Given the description of an element on the screen output the (x, y) to click on. 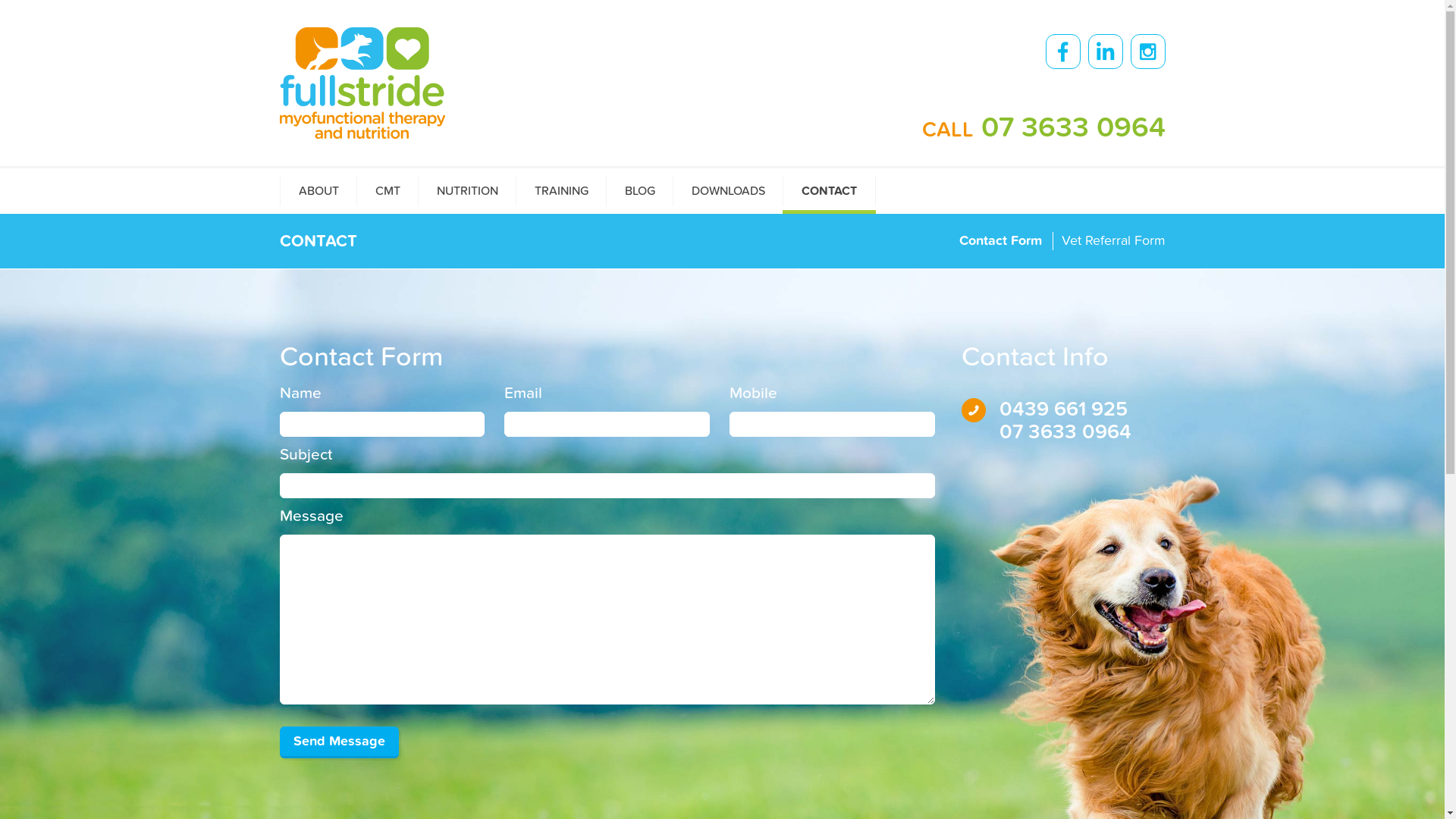
CMT Element type: text (387, 190)
NUTRITION Element type: text (466, 190)
TRAINING Element type: text (560, 190)
LinkedIn Element type: text (1104, 51)
Send Message Element type: text (338, 742)
Contact Form Element type: text (1000, 240)
Vet Referral Form Element type: text (1113, 240)
Facebook Element type: text (1061, 51)
CONTACT Element type: text (828, 190)
ABOUT Element type: text (317, 190)
Instagram Element type: text (1146, 51)
BLOG Element type: text (638, 190)
DOWNLOADS Element type: text (726, 190)
